Given the description of an element on the screen output the (x, y) to click on. 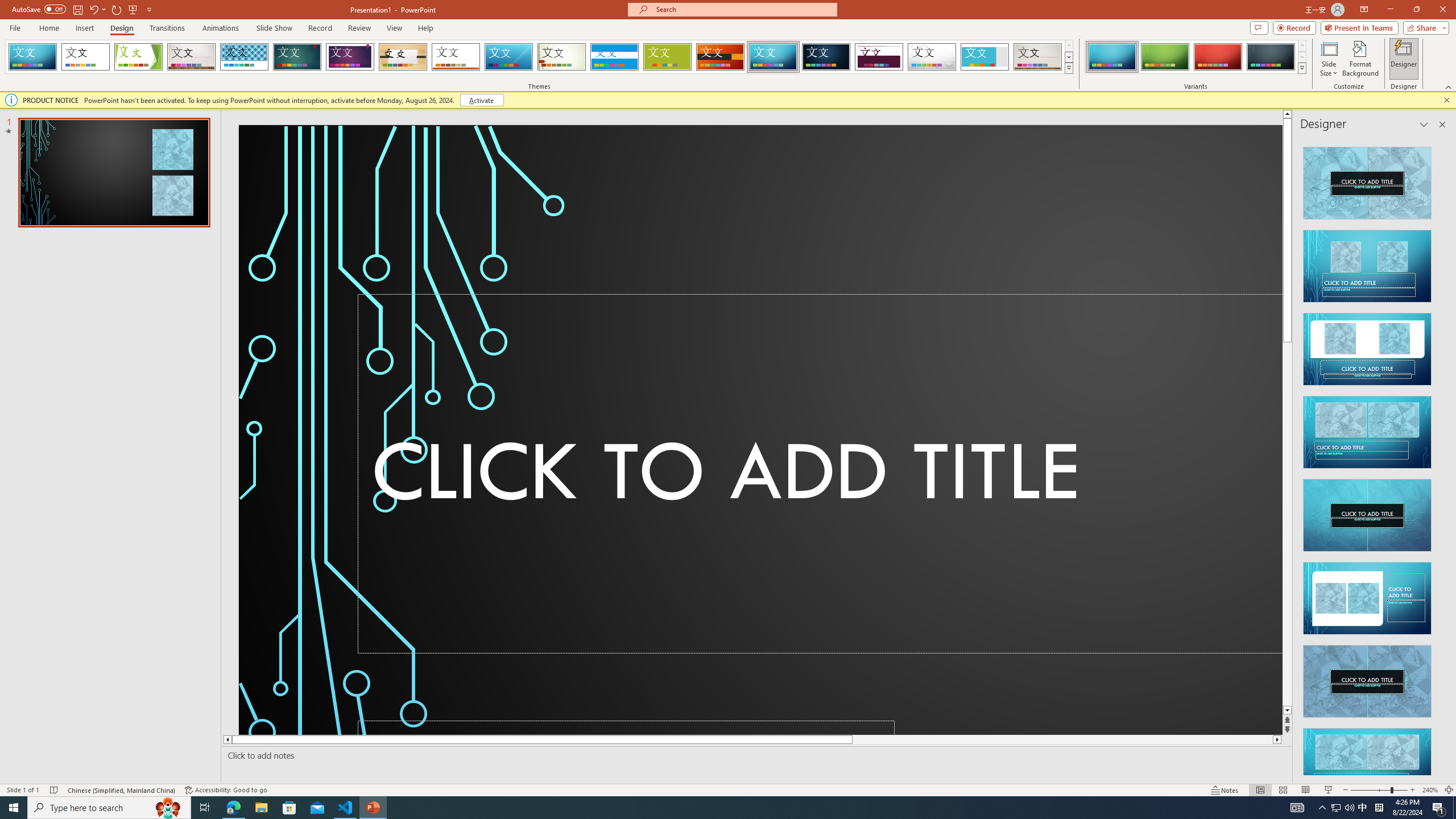
Ion (296, 56)
Zoom to Fit  (1449, 790)
Basis (667, 56)
Transitions (167, 28)
Close pane (1441, 124)
Wisp (561, 56)
Berlin (720, 56)
Task Pane Options (1423, 124)
FadeVTI (32, 56)
Droplet (931, 56)
Themes (1068, 67)
